Given the description of an element on the screen output the (x, y) to click on. 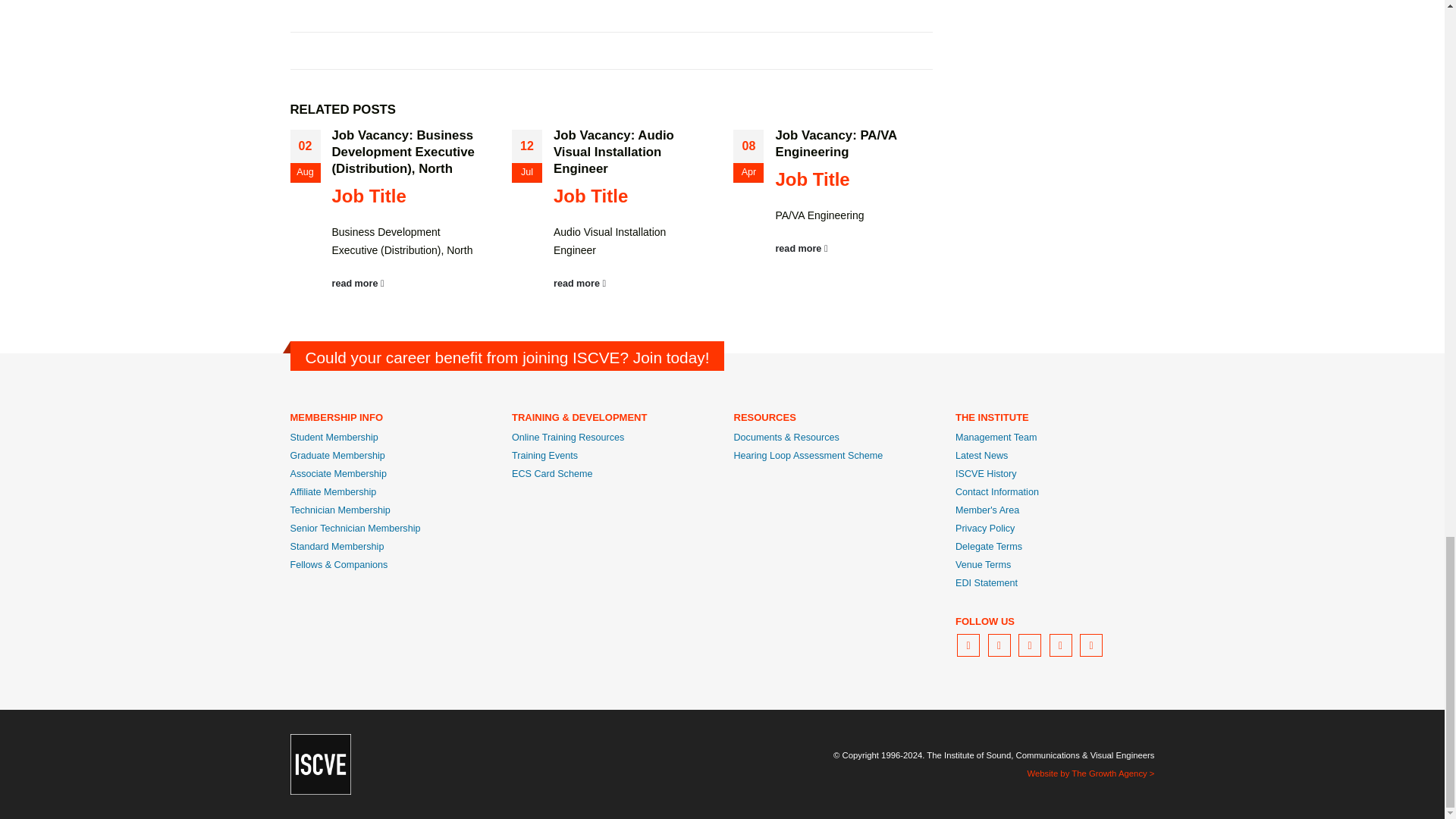
Associate Membership (337, 473)
Student Membership (333, 437)
Graduate Membership (336, 455)
